Given the description of an element on the screen output the (x, y) to click on. 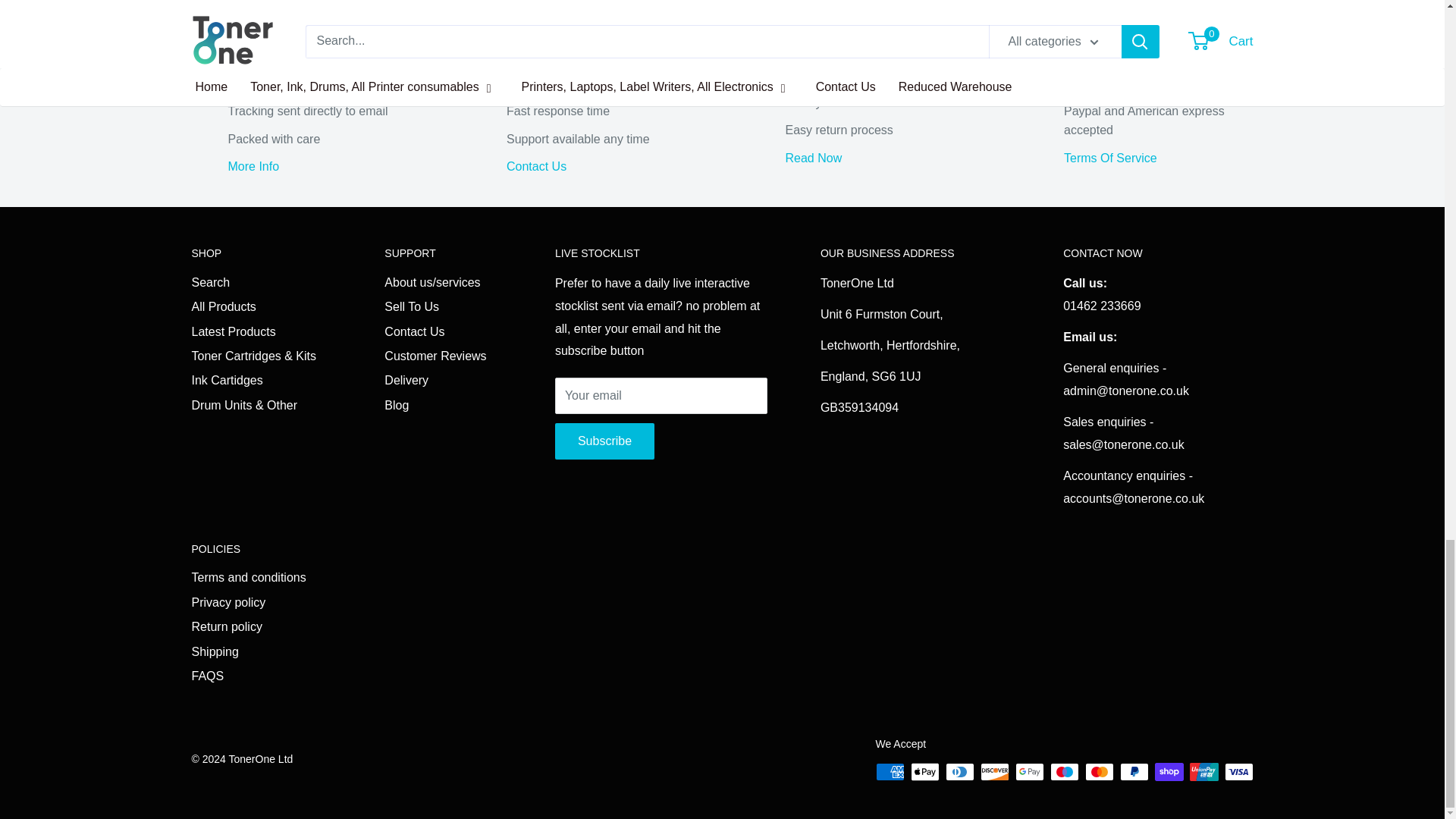
Refund Policy (814, 157)
Terms of Service (1110, 157)
